Given the description of an element on the screen output the (x, y) to click on. 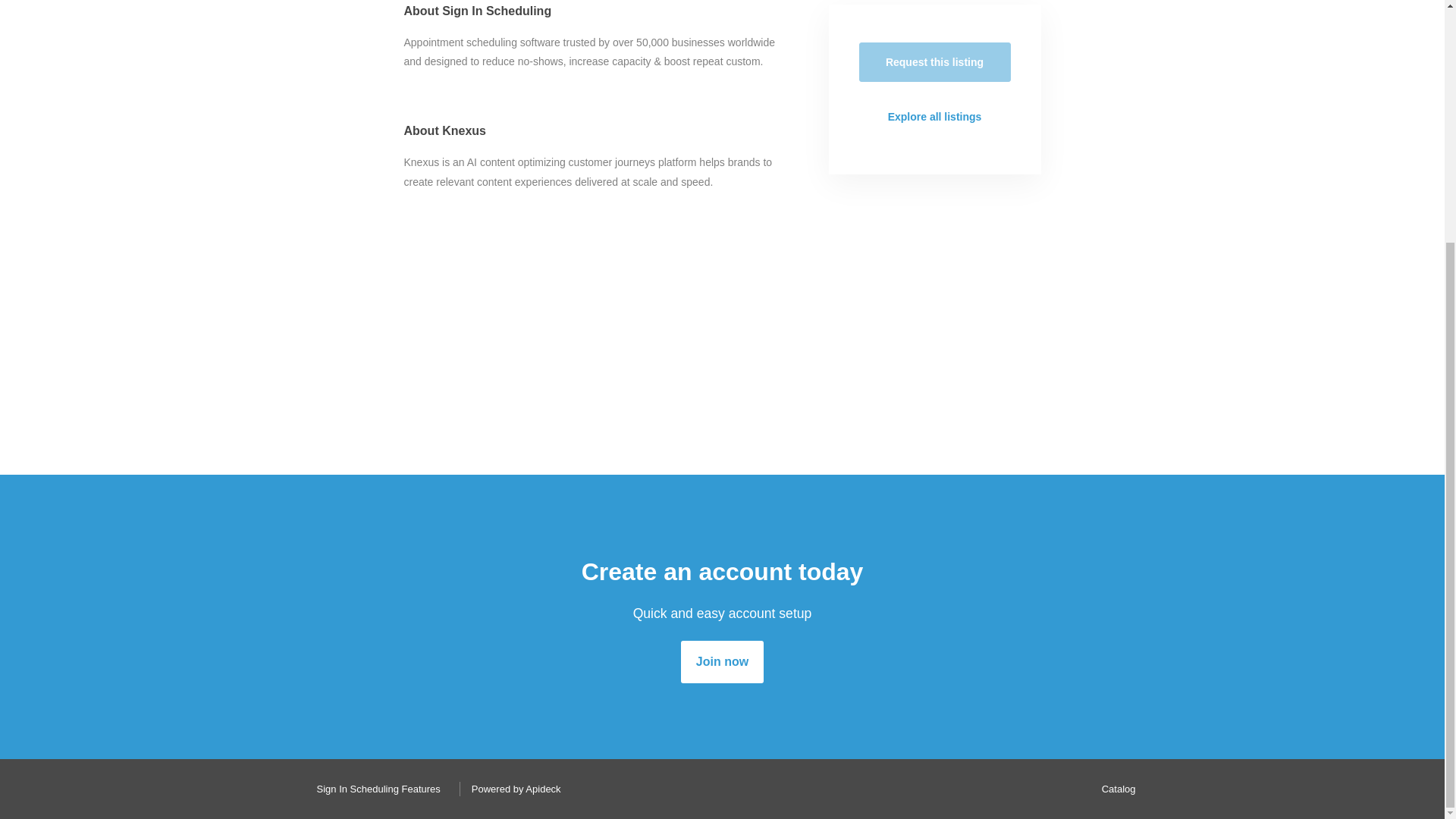
Catalog (1115, 789)
Explore all listings (934, 116)
Sign In Scheduling Features (374, 789)
Request this listing (934, 61)
Powered by Apideck (512, 789)
Join now (721, 661)
